Given the description of an element on the screen output the (x, y) to click on. 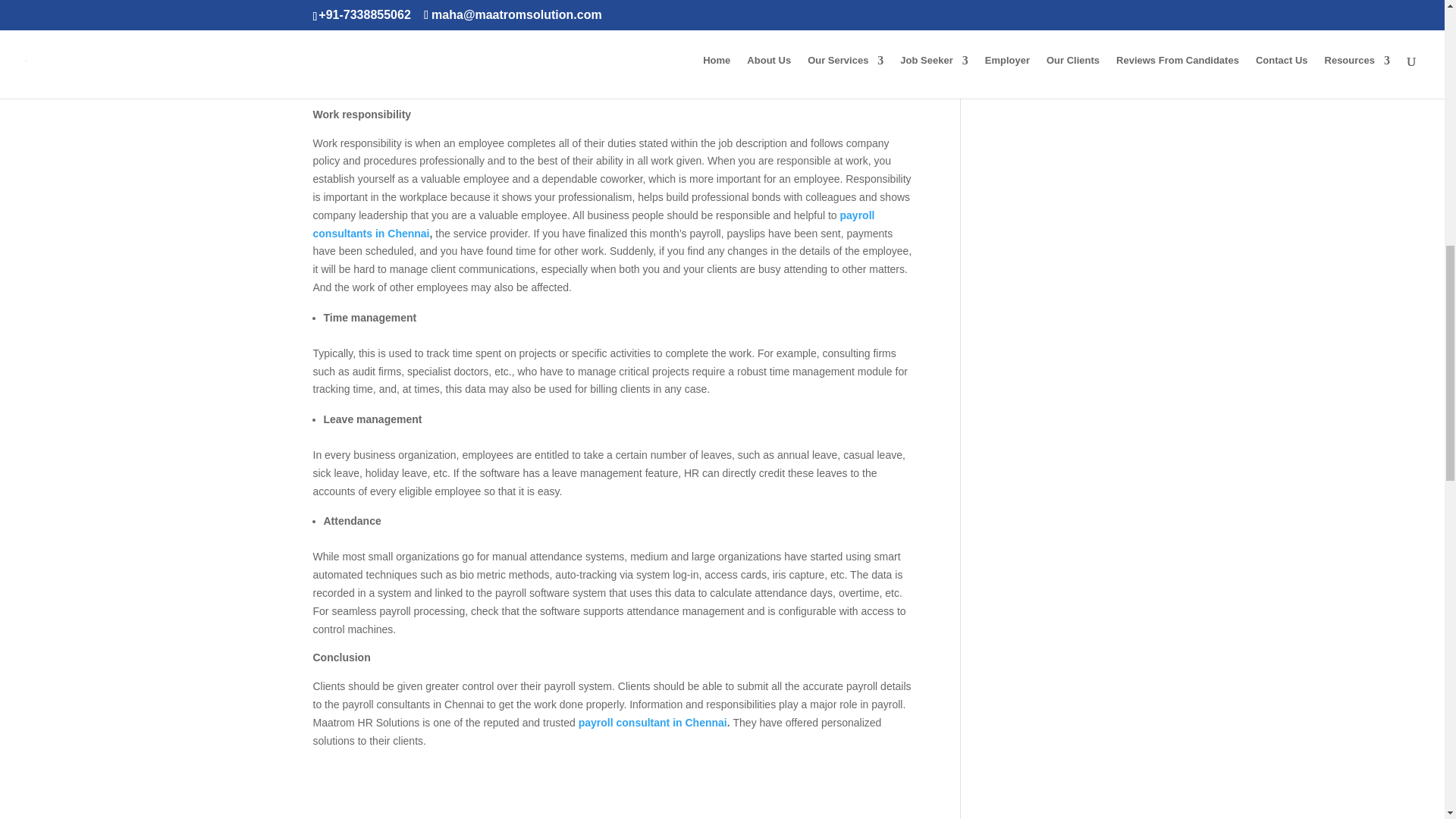
payroll consultant in Chennai (652, 722)
payroll services in Chennai (490, 85)
payroll consultants in Chennai (594, 224)
